Given the description of an element on the screen output the (x, y) to click on. 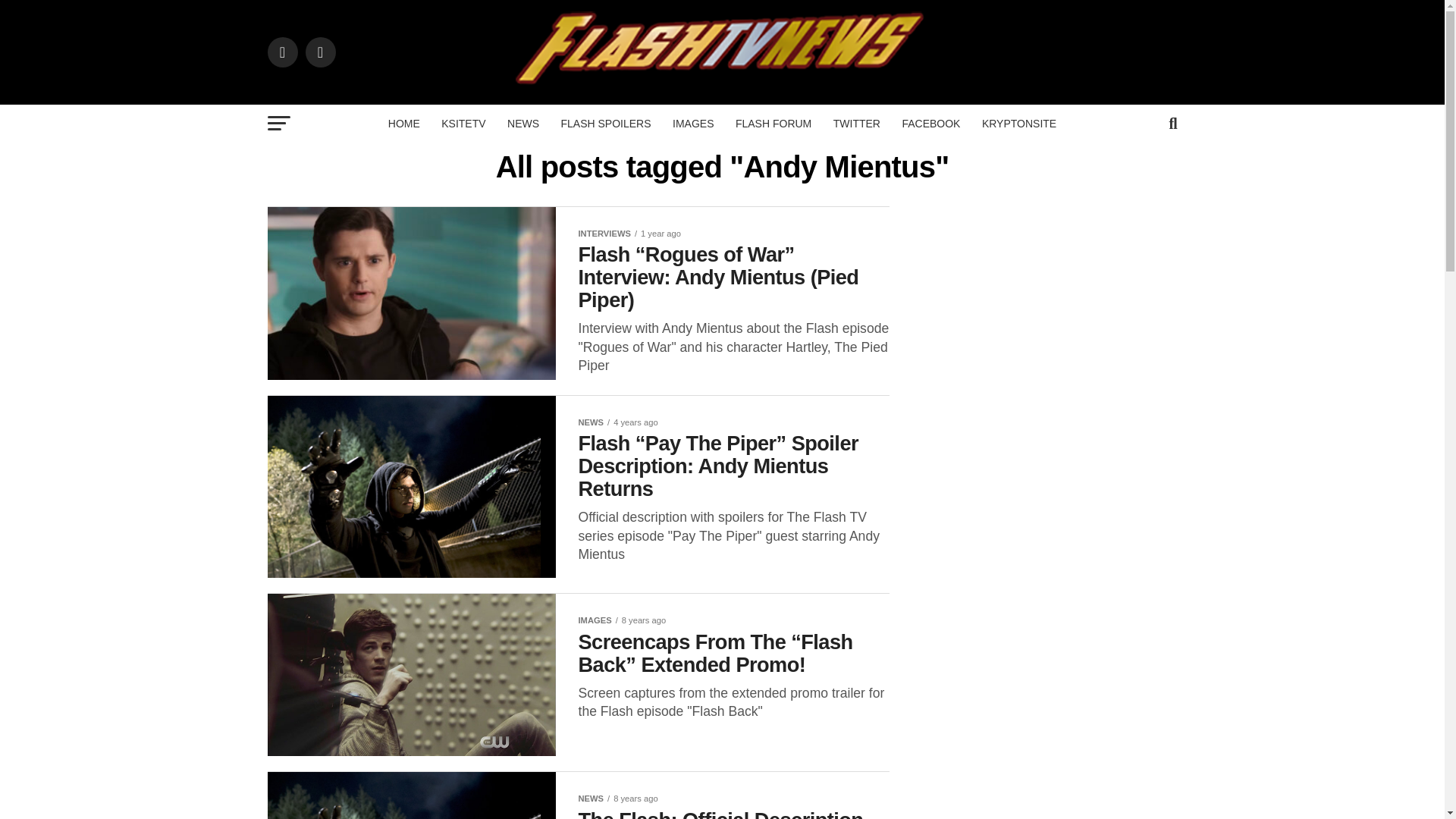
TWITTER (856, 123)
FACEBOOK (930, 123)
KSITETV (463, 123)
IMAGES (692, 123)
NEWS (522, 123)
HOME (403, 123)
FLASH SPOILERS (606, 123)
FLASH FORUM (773, 123)
KRYPTONSITE (1018, 123)
